Given the description of an element on the screen output the (x, y) to click on. 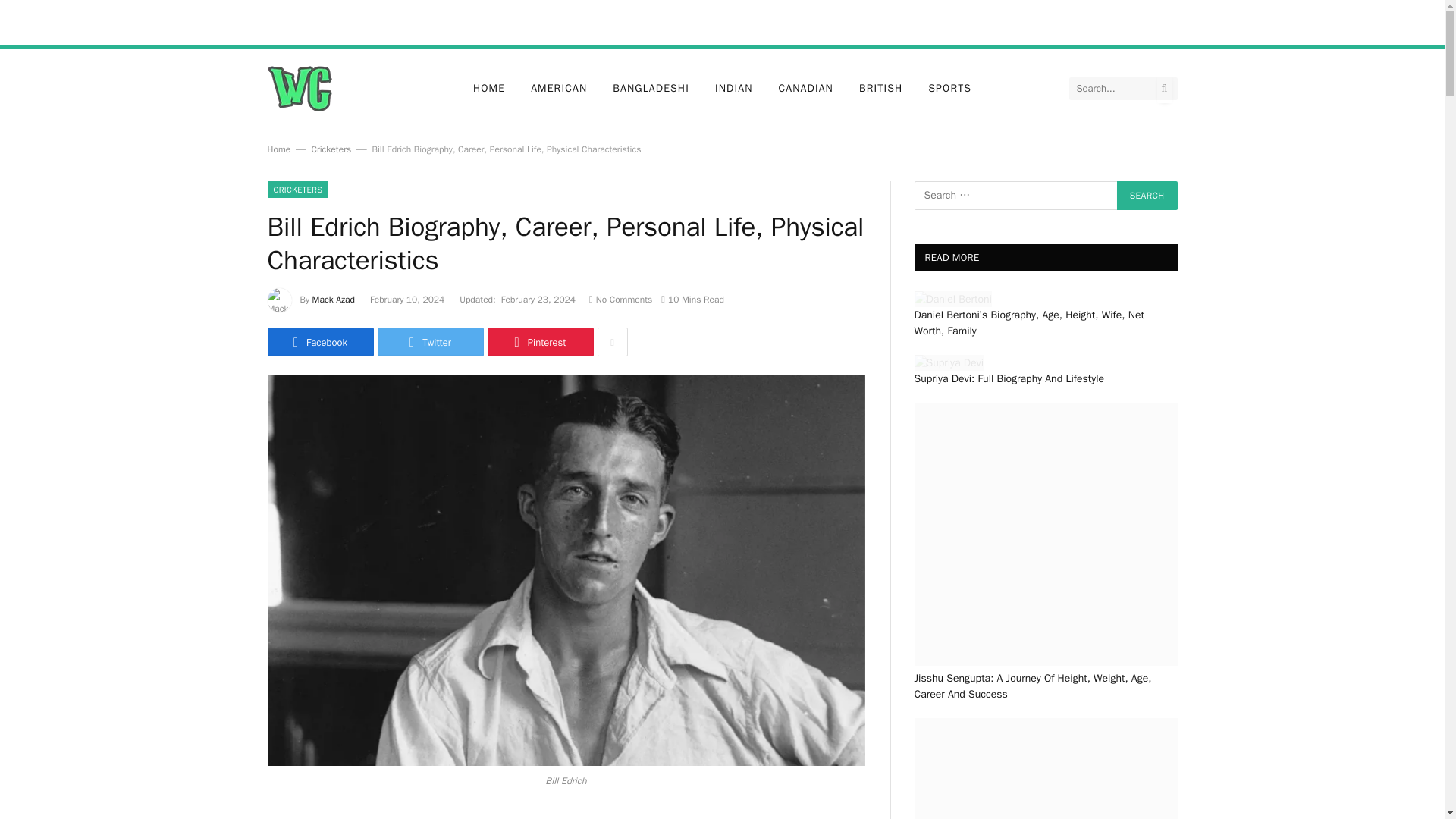
Mack Azad (334, 299)
Show More Social Sharing (611, 341)
Facebook (319, 341)
Search (1146, 194)
BANGLADESHI (650, 88)
No Comments (620, 299)
AMERICAN (558, 88)
Twitter (430, 341)
Cricketers (330, 149)
Pinterest (539, 341)
Share on Facebook (319, 341)
World Celebrity (298, 88)
Posts by Mack Azad (334, 299)
Share on Pinterest (539, 341)
CRICKETERS (297, 189)
